Given the description of an element on the screen output the (x, y) to click on. 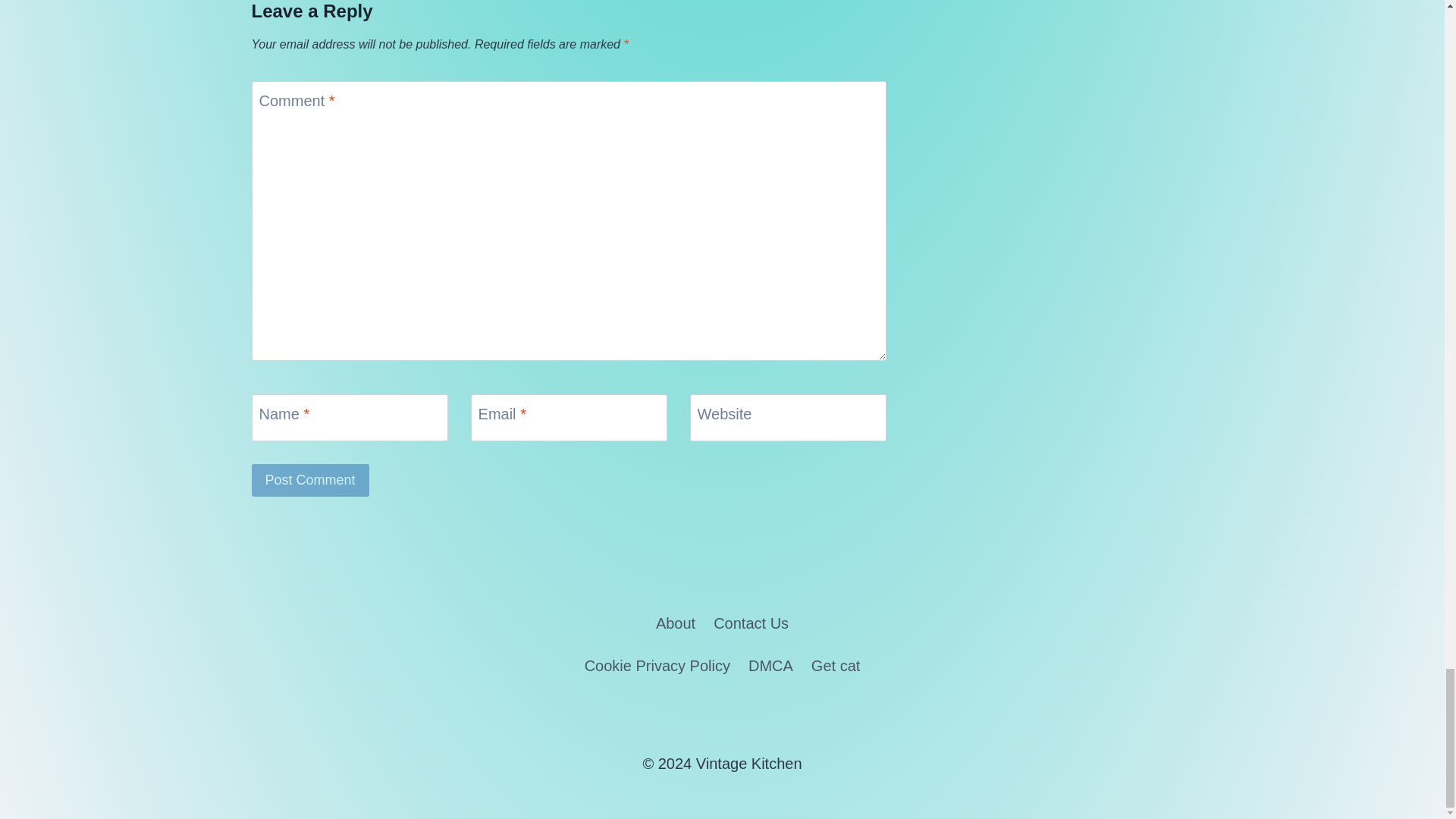
Post Comment (310, 480)
DMCA (770, 665)
Get cat (835, 665)
Post Comment (310, 480)
Cookie Privacy Policy (657, 665)
About (675, 623)
Contact Us (750, 623)
